Given the description of an element on the screen output the (x, y) to click on. 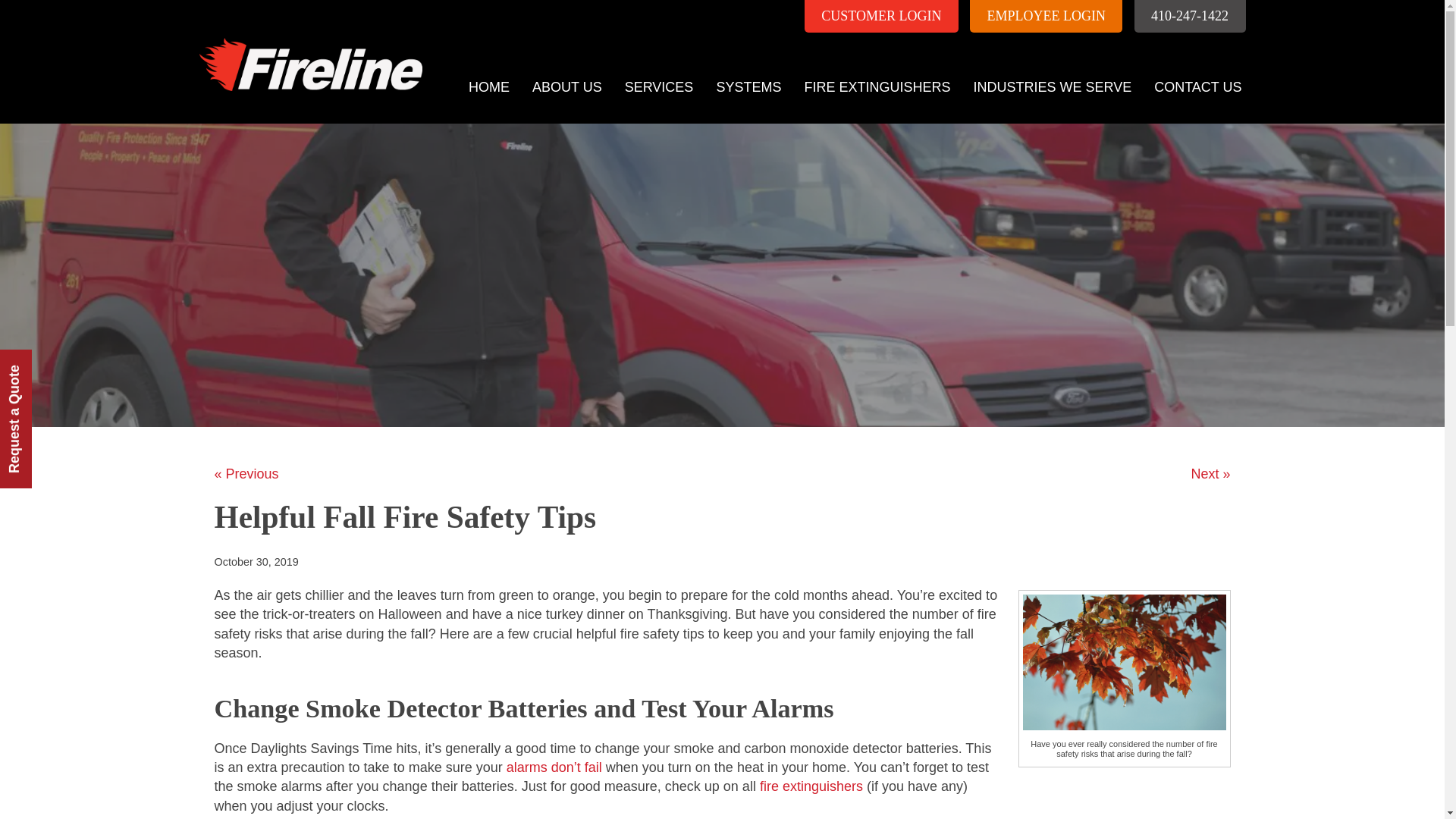
INDUSTRIES WE SERVE (1051, 87)
SYSTEMS (748, 87)
Fireline (306, 45)
FIRE EXTINGUISHERS (876, 87)
ABOUT US (566, 87)
410-247-1422 (1190, 16)
SERVICES (658, 87)
CUSTOMER LOGIN (881, 16)
EMPLOYEE LOGIN (1045, 16)
